Given the description of an element on the screen output the (x, y) to click on. 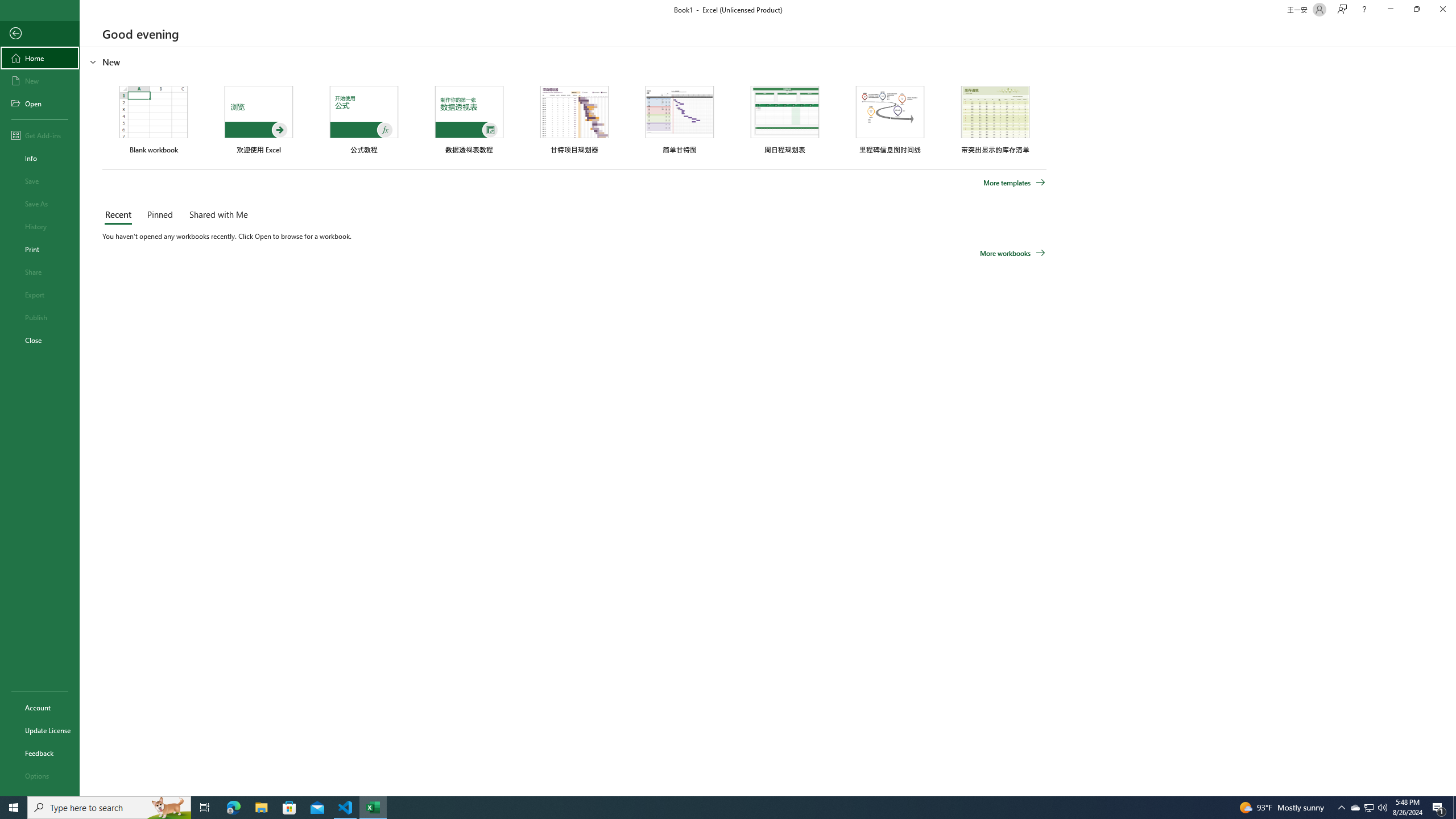
Export (40, 294)
New (40, 80)
Recent (119, 215)
Get Add-ins (40, 134)
Pinned (159, 215)
